Given the description of an element on the screen output the (x, y) to click on. 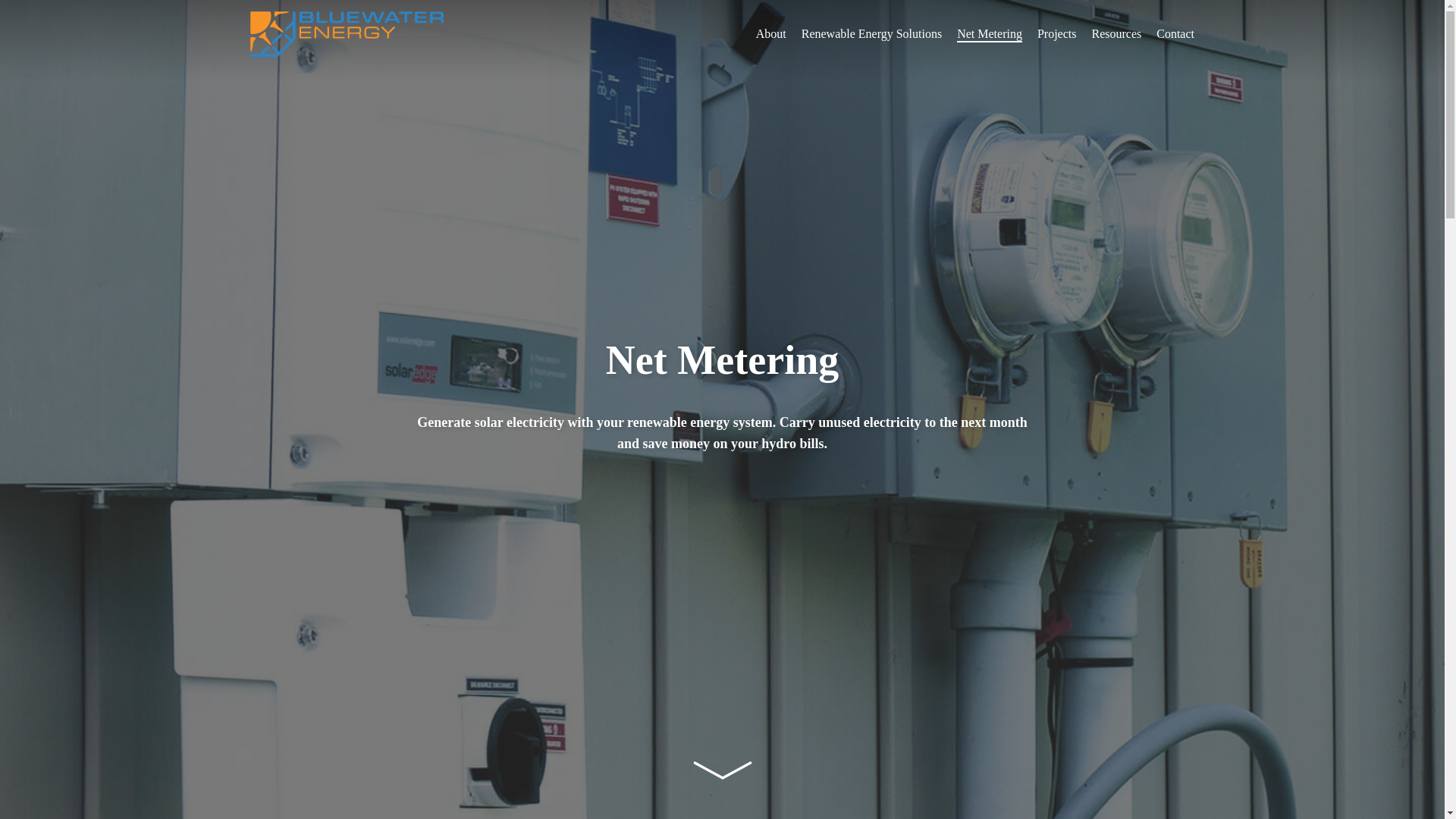
About (770, 33)
Resources (1115, 33)
Renewable Energy Solutions (872, 33)
Contact (1174, 33)
Projects (1056, 33)
Net Metering (989, 33)
